Given the description of an element on the screen output the (x, y) to click on. 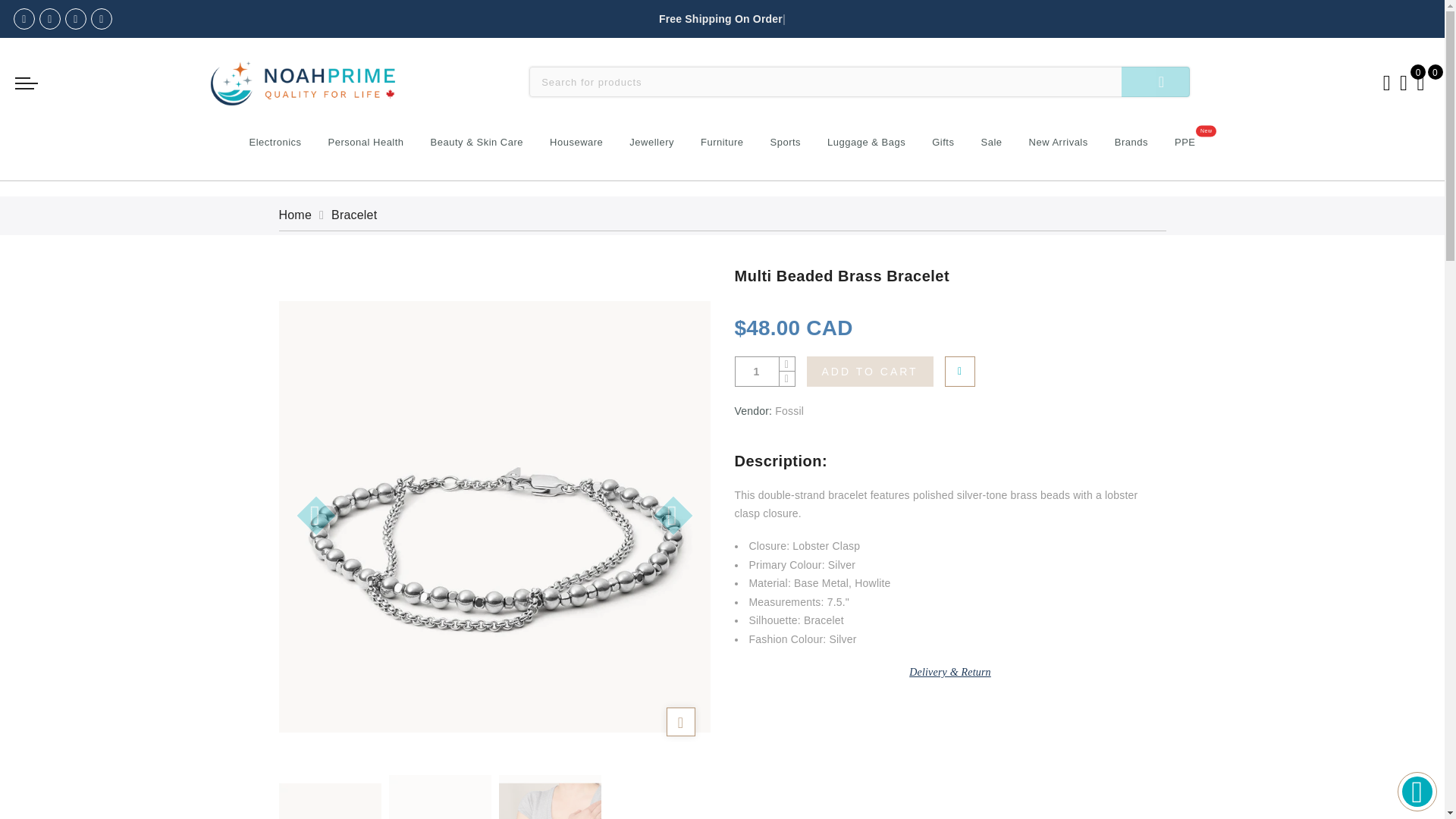
Qty (756, 371)
View your shopping cart (1420, 81)
1 (756, 371)
Fossil (788, 410)
